Given the description of an element on the screen output the (x, y) to click on. 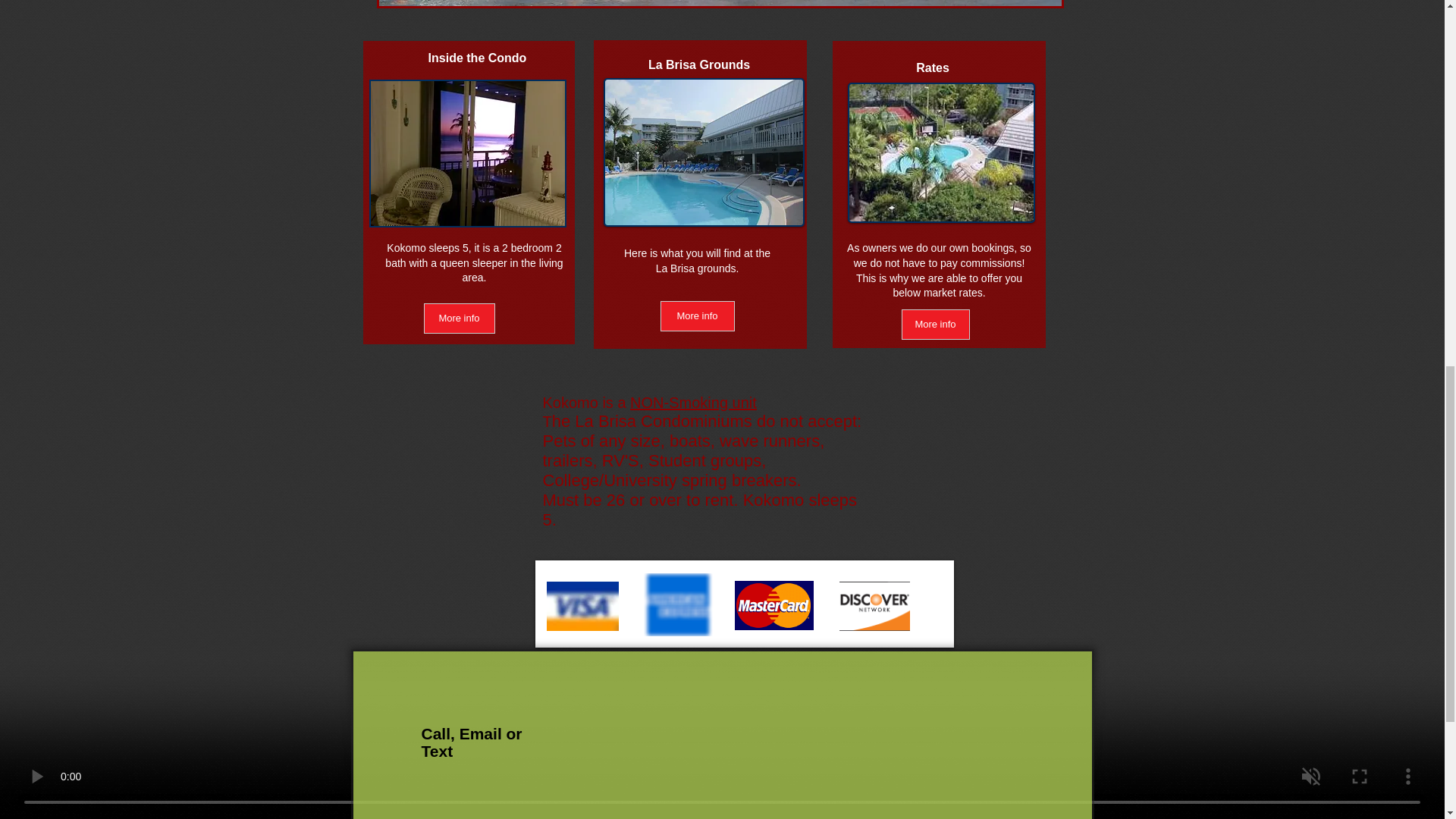
More info (696, 316)
More info (935, 324)
More info (459, 318)
